Given the description of an element on the screen output the (x, y) to click on. 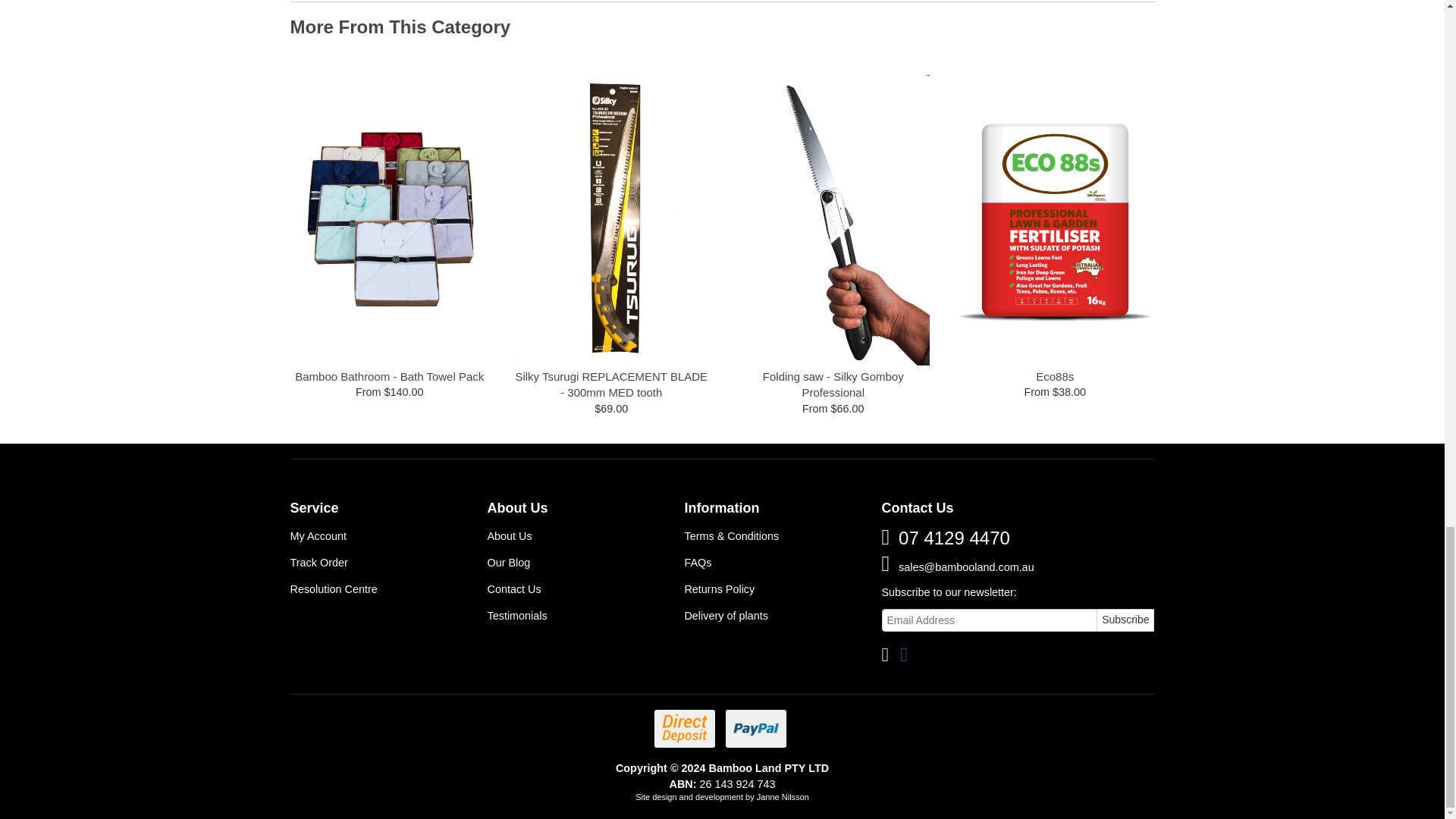
Silky Tsurugi REPLACEMENT BLADE - 300mm MED tooth (611, 384)
Subscribe (1125, 620)
Bamboo Bathroom - Bath Towel Pack (389, 376)
